Given the description of an element on the screen output the (x, y) to click on. 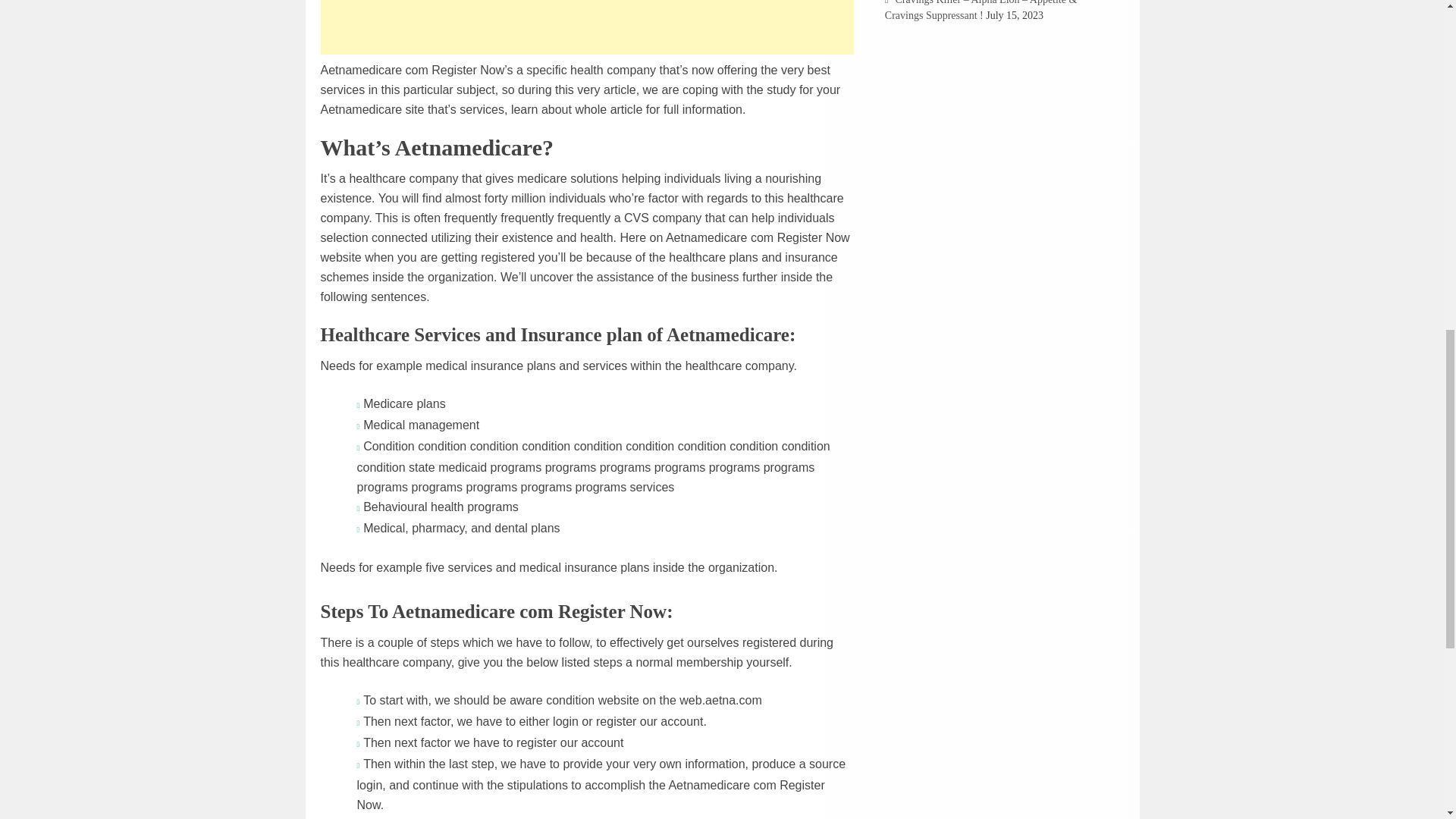
Advertisement (586, 27)
